Given the description of an element on the screen output the (x, y) to click on. 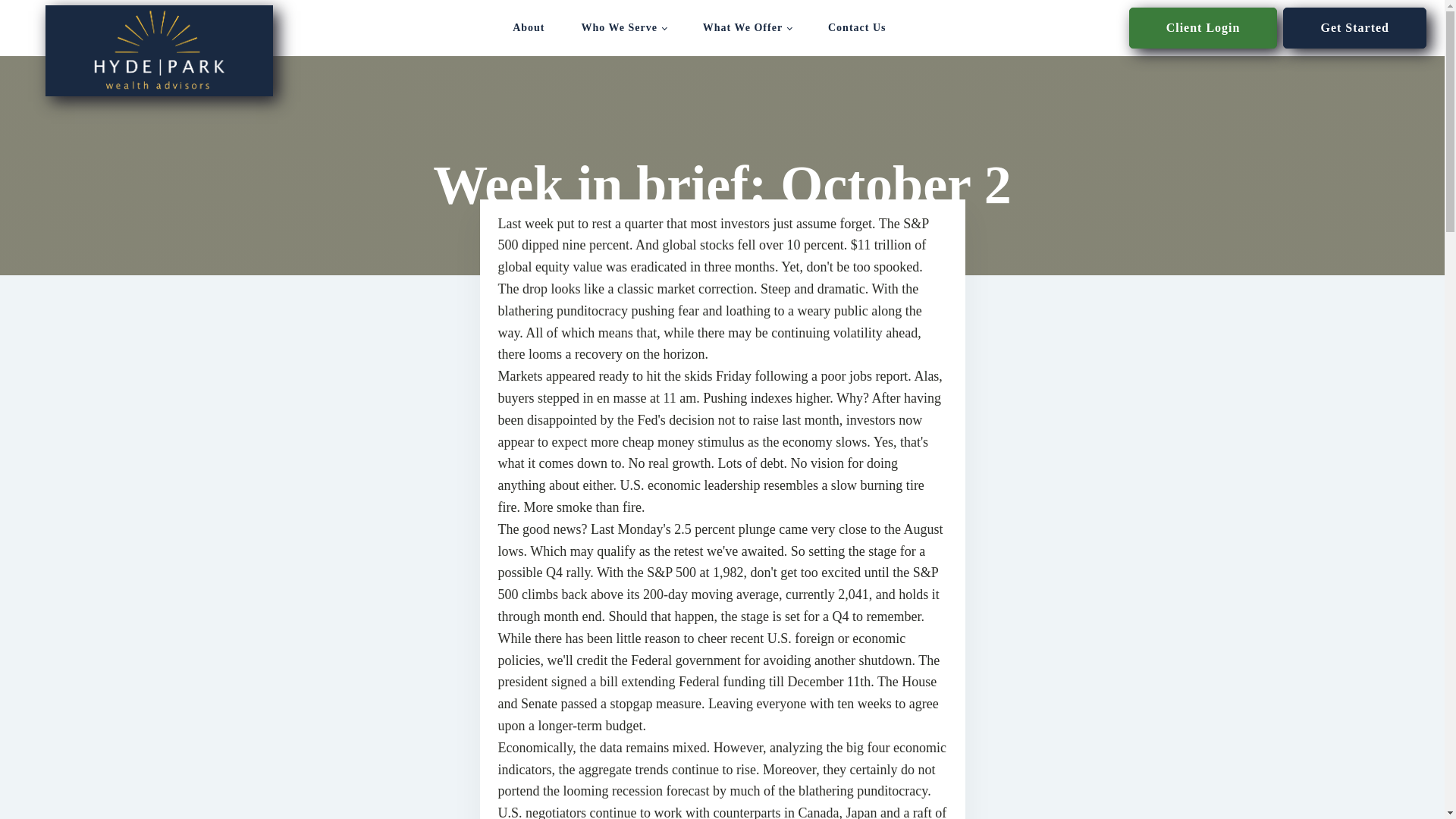
Contact Us (856, 27)
What We Offer (746, 27)
Who We Serve (623, 27)
Get Started (1354, 27)
About (528, 27)
Client Login (1203, 27)
